Given the description of an element on the screen output the (x, y) to click on. 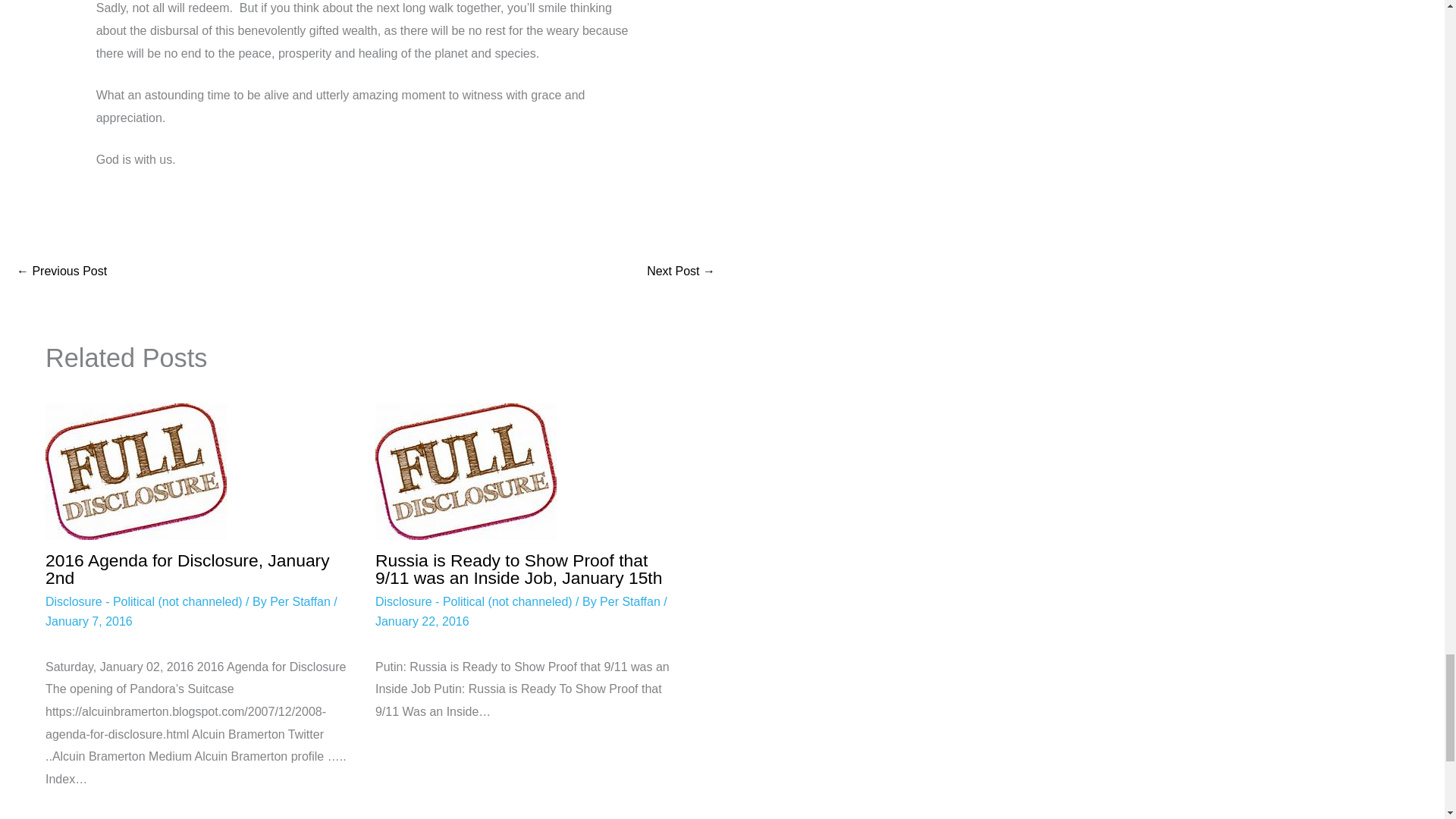
Per Staffan (631, 601)
The Divine Mother via Linda Dillon, December 29th (680, 271)
View all posts by Per Staffan (631, 601)
2016 Agenda for Disclosure, January 2nd (187, 569)
View all posts by Per Staffan (301, 601)
Per Staffan (301, 601)
